Given the description of an element on the screen output the (x, y) to click on. 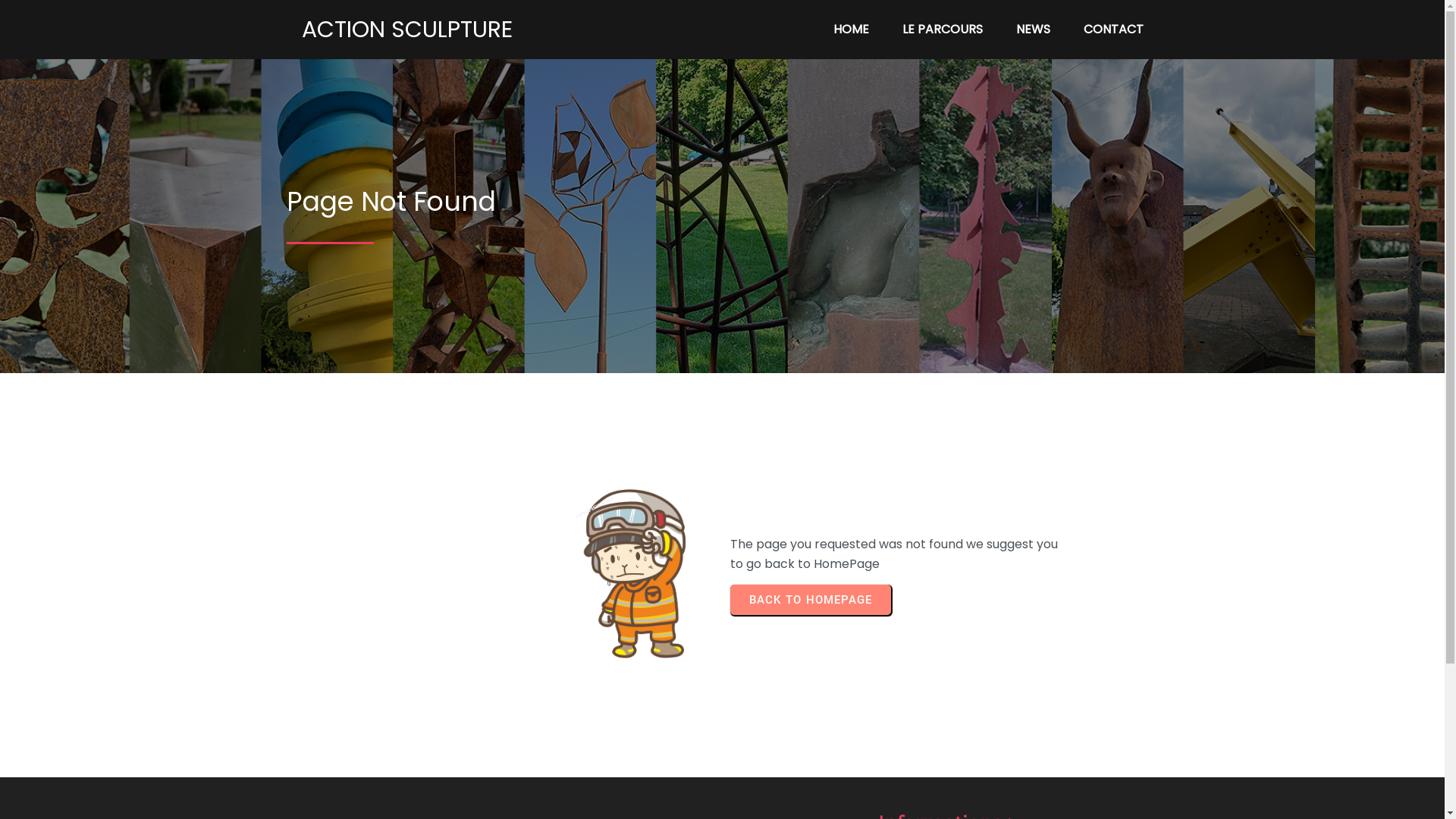
BACK TO HOMEPAGE Element type: text (809, 599)
HOME Element type: text (851, 29)
ACTION SCULPTURE Element type: text (452, 29)
NEWS Element type: text (1033, 29)
LE PARCOURS Element type: text (942, 29)
CONTACT Element type: text (1113, 29)
